Given the description of an element on the screen output the (x, y) to click on. 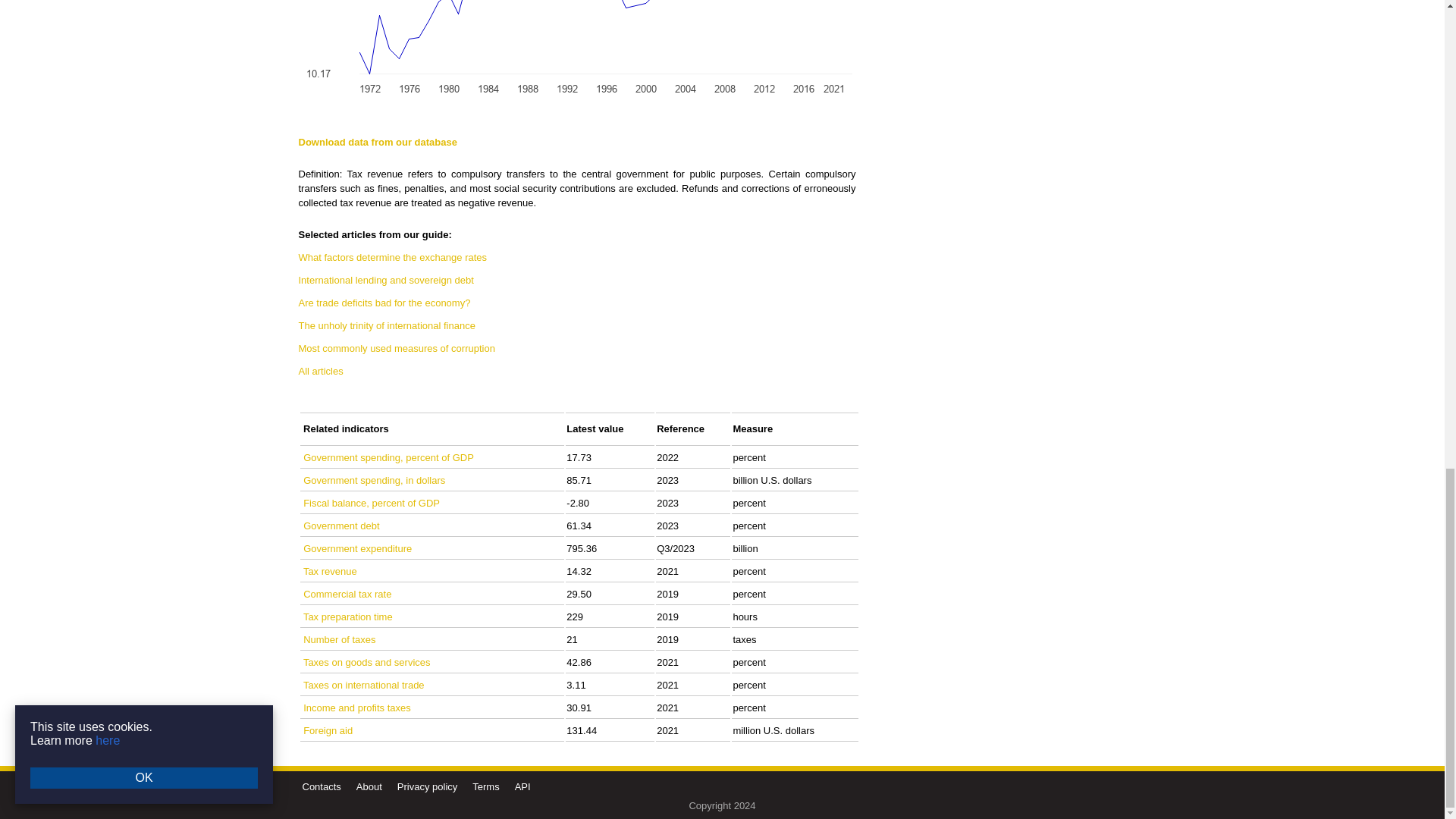
What factors determine the exchange rates (392, 256)
Download data from our database (377, 142)
